Given the description of an element on the screen output the (x, y) to click on. 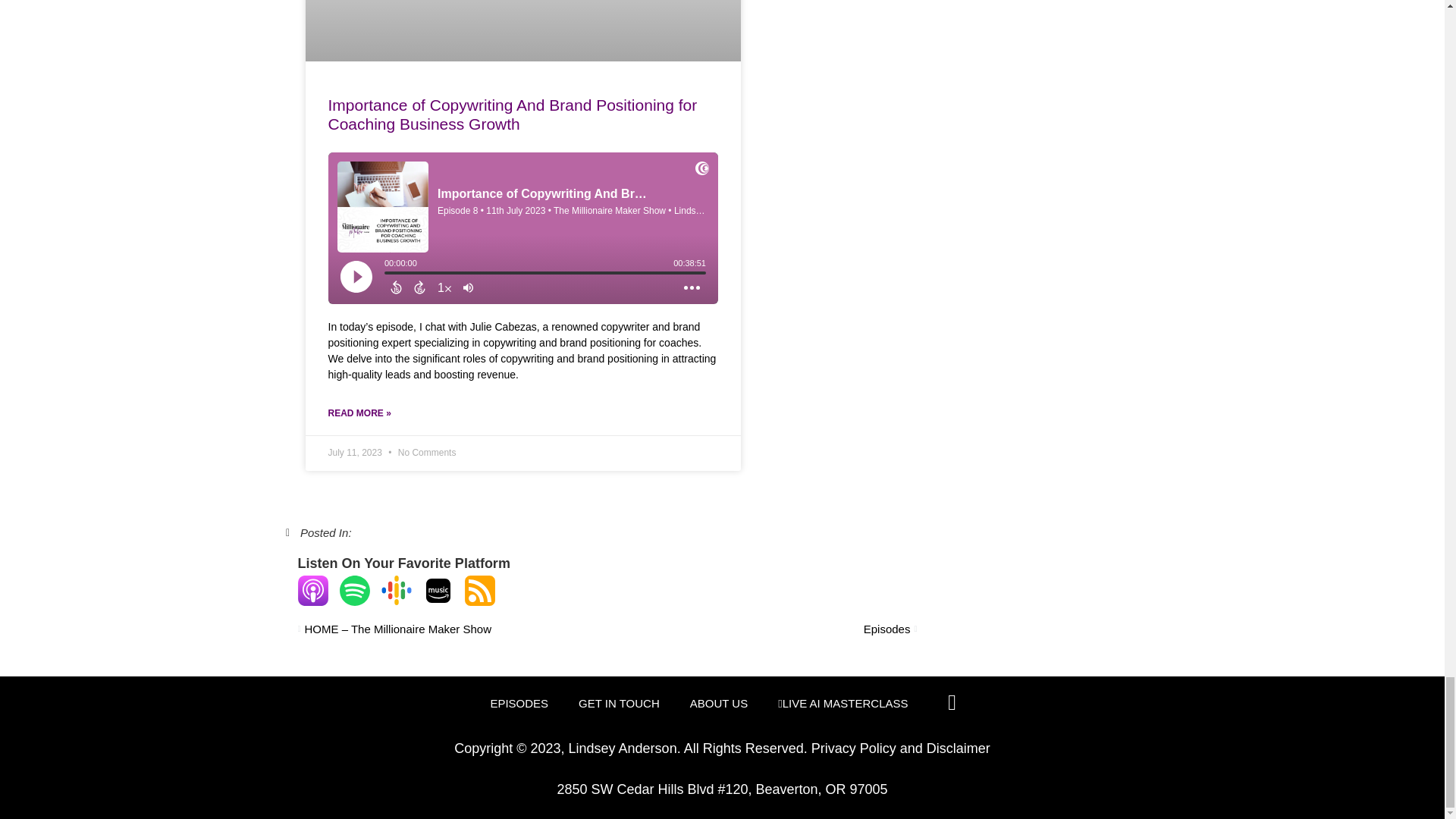
Episodes (762, 629)
Website Thumbnail The Millionaire Maker Podcast BLOG (518, 29)
